Given the description of an element on the screen output the (x, y) to click on. 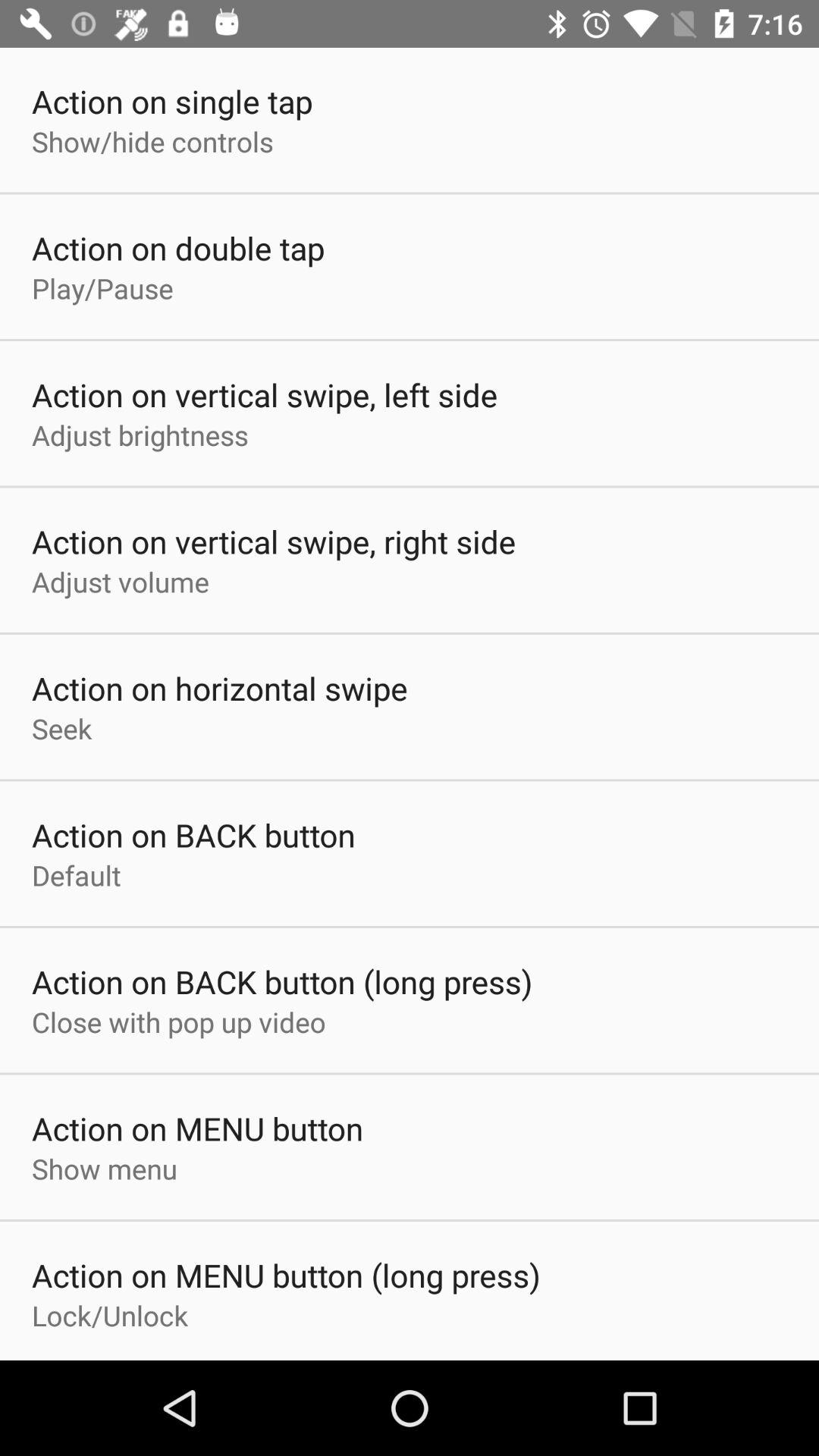
jump to close with pop (178, 1021)
